Given the description of an element on the screen output the (x, y) to click on. 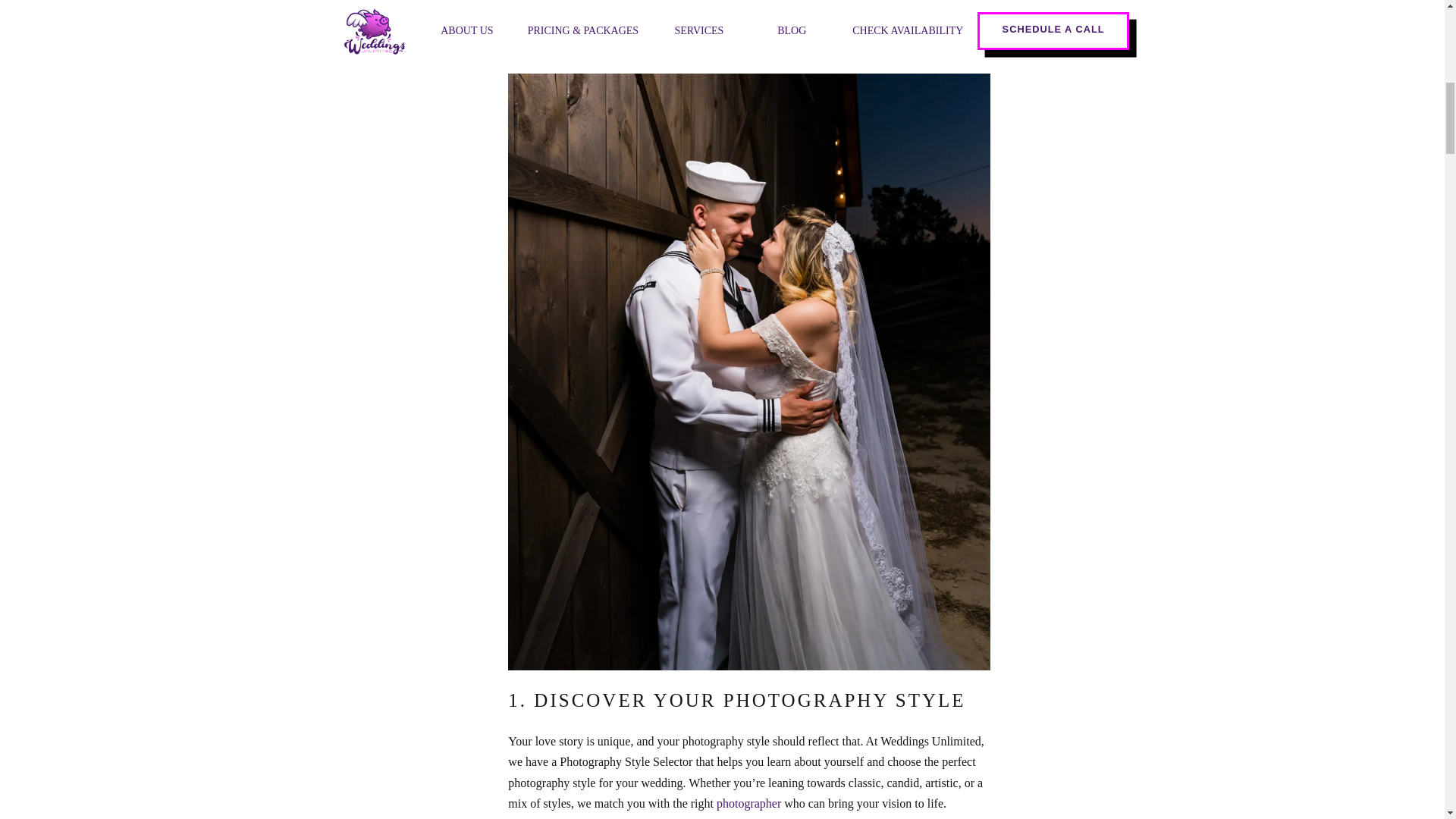
photographer (748, 802)
